Given the description of an element on the screen output the (x, y) to click on. 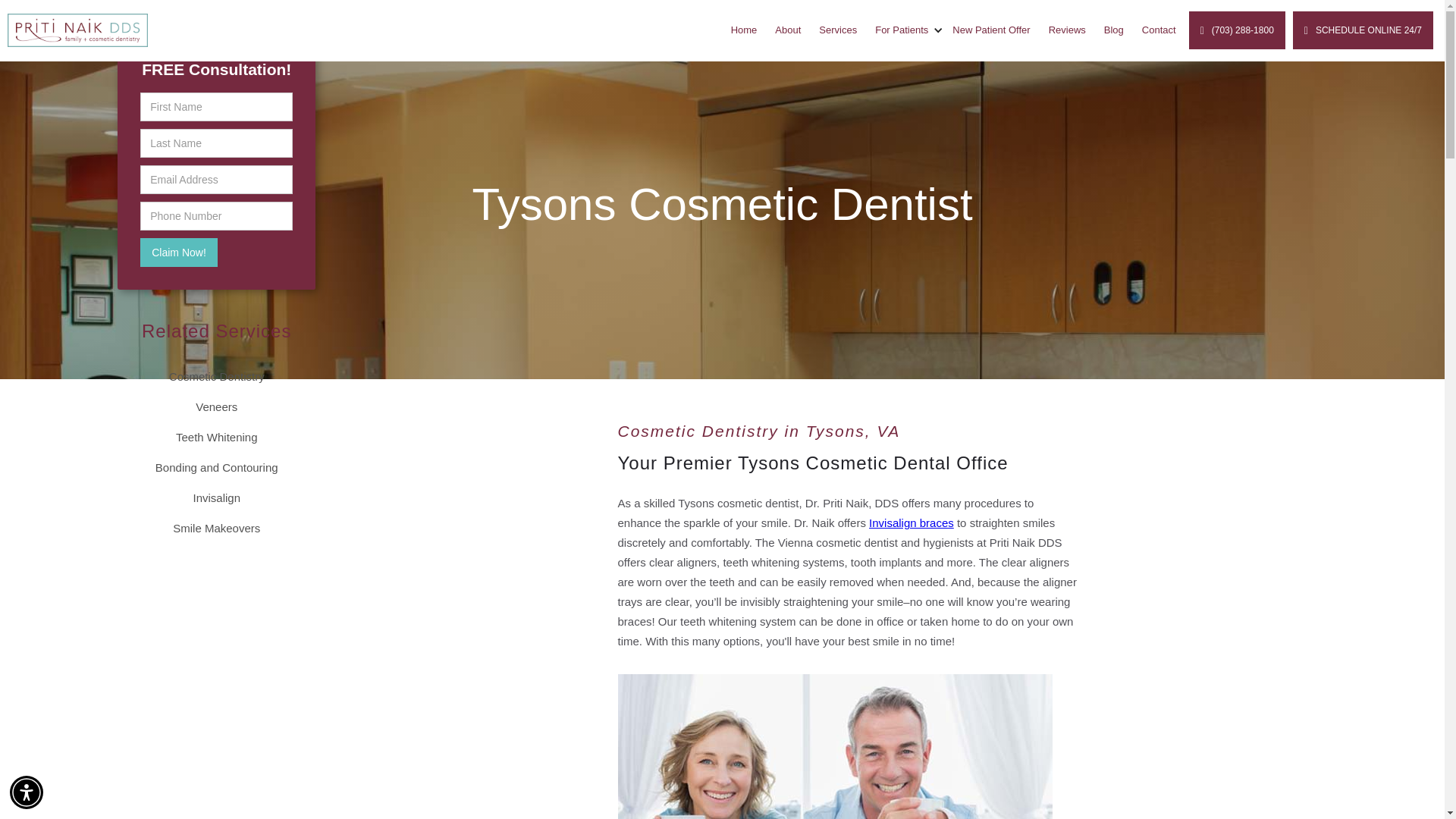
Reviews (1066, 30)
Invisalign (216, 498)
Teeth Whitening (216, 437)
Claim Now! (177, 252)
Smile Makeovers (216, 528)
Claim Now! (177, 252)
Bonding and Contouring (216, 467)
New Patient Offer (991, 30)
Accessibility Menu (26, 792)
Cosmetic Dentistry (216, 376)
Veneers (216, 407)
Services (837, 30)
Invisalign braces (911, 522)
